Given the description of an element on the screen output the (x, y) to click on. 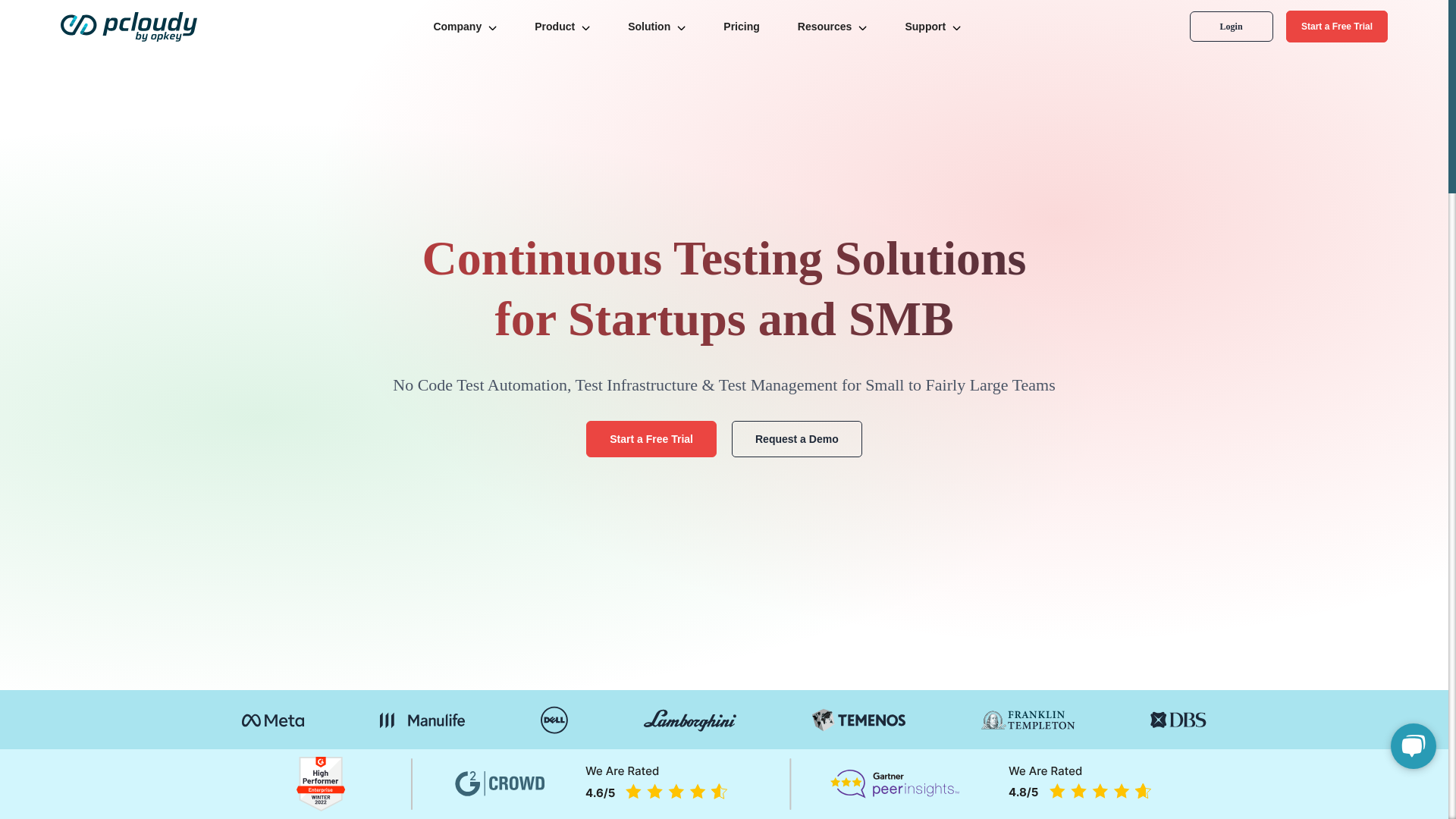
Solution (656, 27)
Chat Widget (1410, 744)
Support (932, 27)
Pricing (740, 26)
Resources (831, 27)
Product (562, 27)
Company (464, 27)
